Given the description of an element on the screen output the (x, y) to click on. 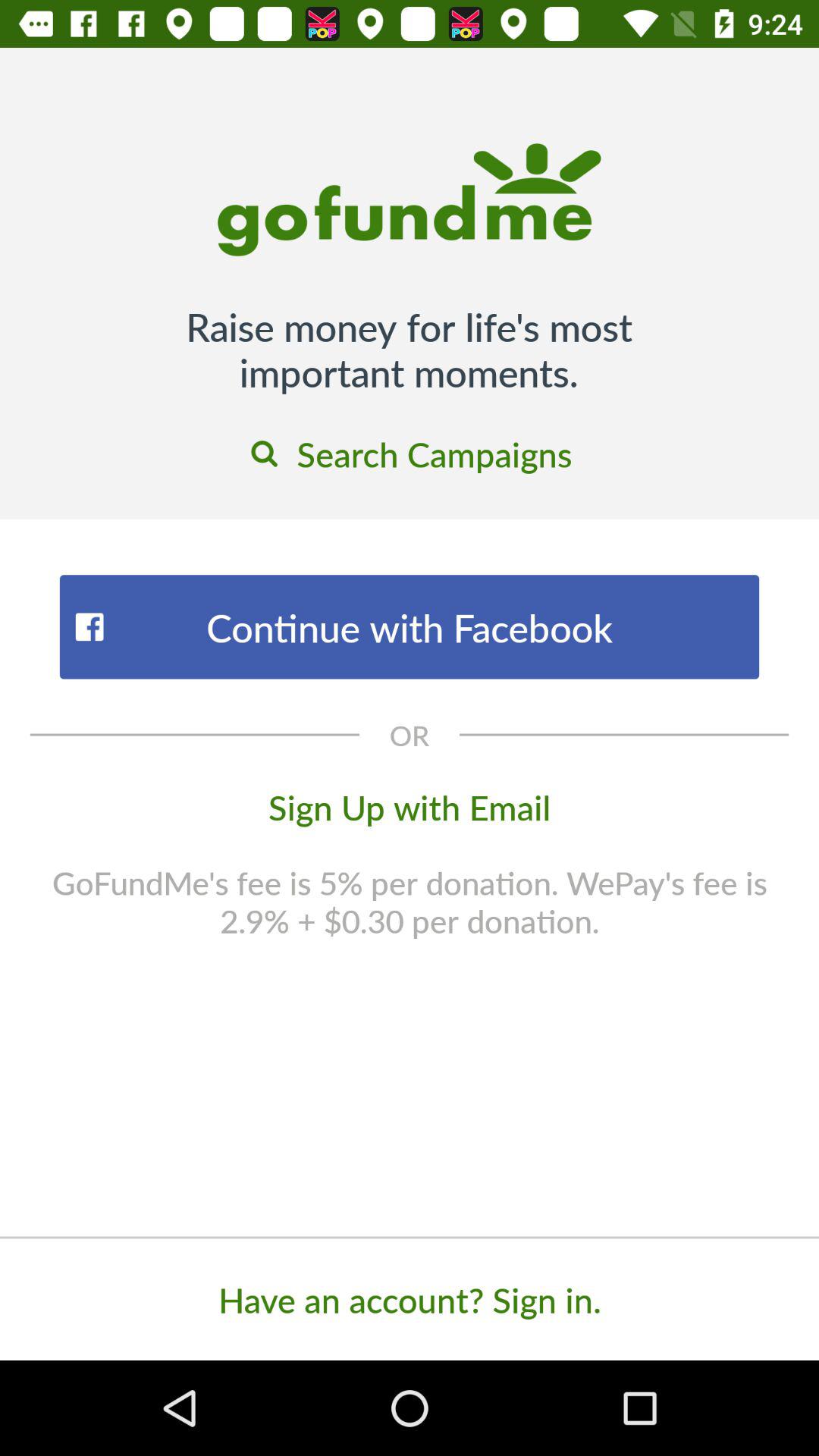
choose icon below the or icon (409, 806)
